Given the description of an element on the screen output the (x, y) to click on. 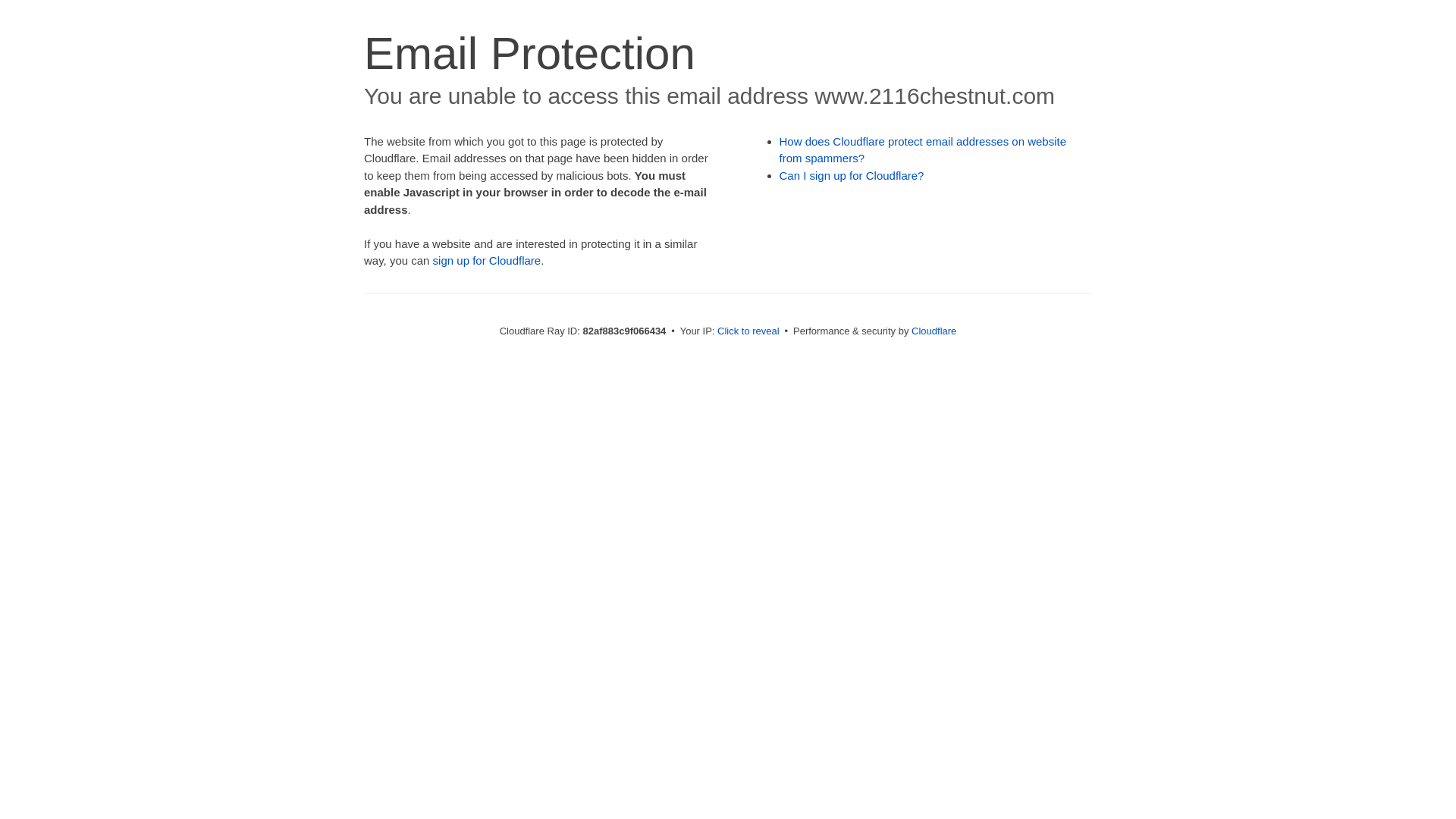
Can I sign up for Cloudflare? Element type: text (851, 175)
sign up for Cloudflare Element type: text (487, 260)
Click to reveal Element type: text (748, 330)
Cloudflare Element type: text (933, 330)
